Given the description of an element on the screen output the (x, y) to click on. 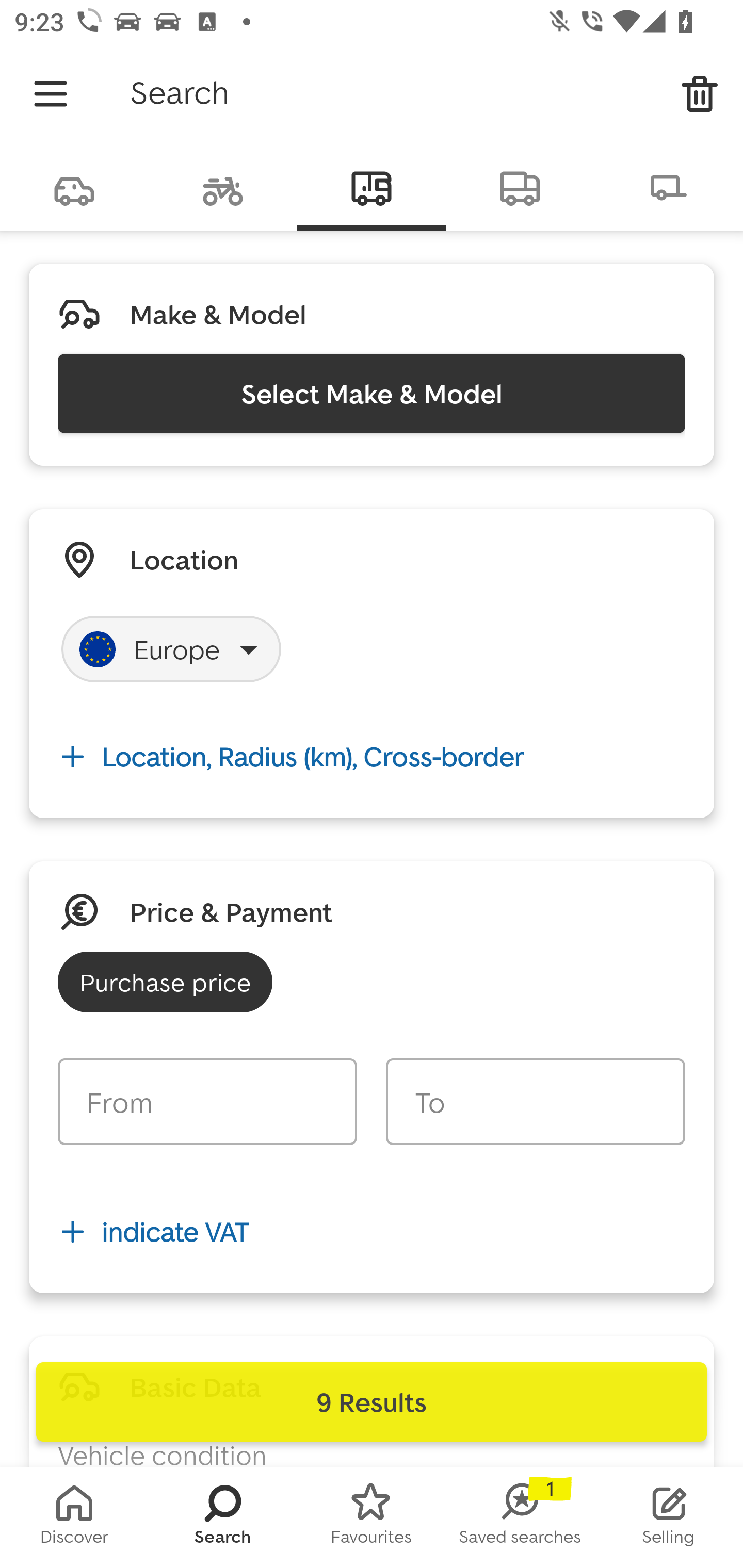
Navigate up (50, 93)
New search (699, 93)
CAR_SEARCH (74, 187)
BIKE_SEARCH (222, 187)
TRUCKS_SEARCH (519, 187)
TRAILERS_SEARCH (668, 187)
Make & Model (218, 314)
Select Make & Model (371, 393)
Location (184, 559)
Europe (170, 648)
Location, Radius (km), Cross-border (371, 756)
Price & Payment (231, 911)
Purchase price (164, 981)
From (207, 1101)
To (535, 1101)
indicate VAT (371, 1231)
9 Results (371, 1401)
HOMESCREEN Discover (74, 1517)
SEARCH Search (222, 1517)
FAVORITES Favourites (371, 1517)
SAVED_SEARCHES Saved searches 1 (519, 1517)
STOCK_LIST Selling (668, 1517)
